Given the description of an element on the screen output the (x, y) to click on. 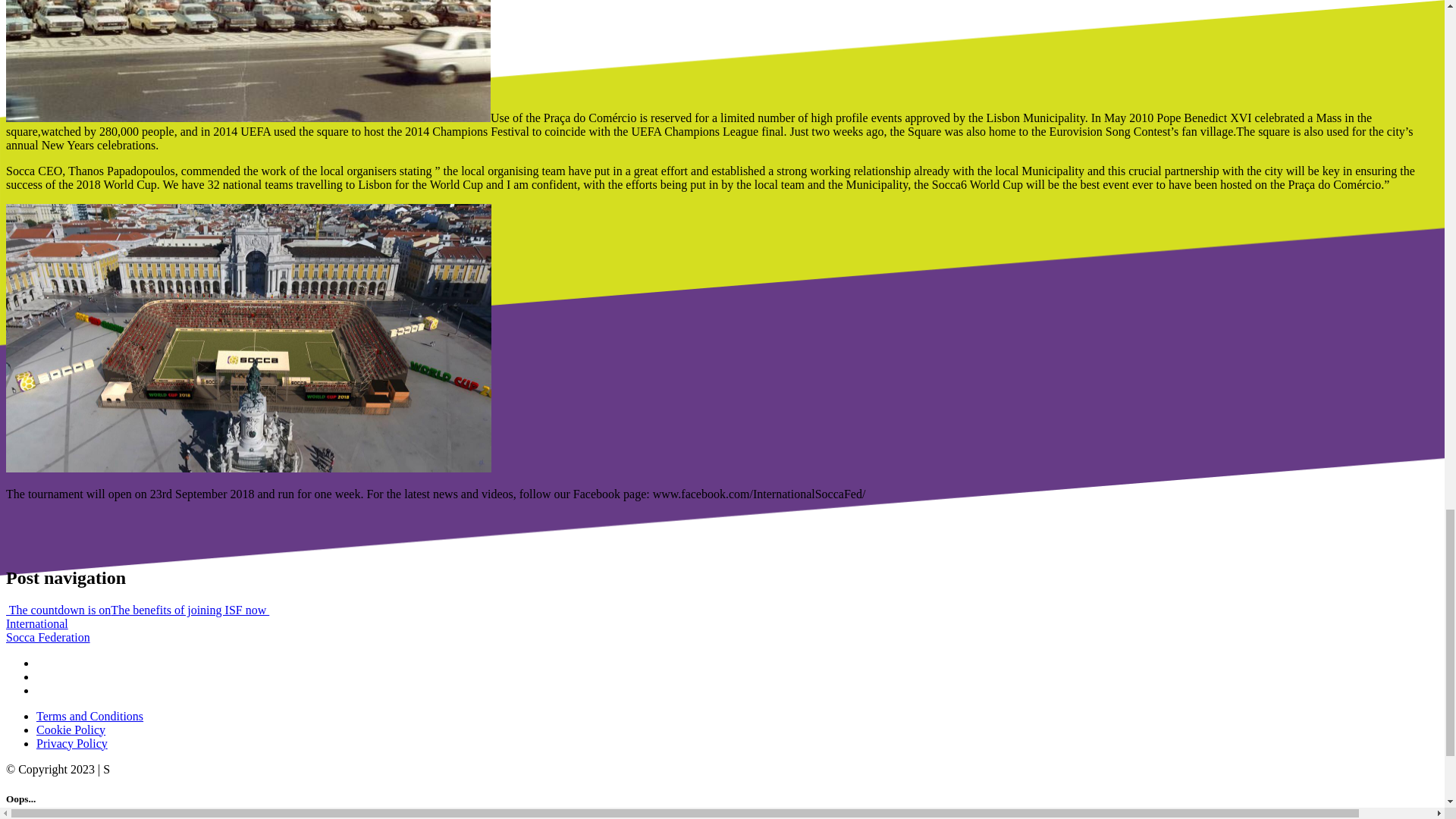
The benefits of joining ISF now  (189, 609)
 The countdown is on (57, 609)
Terms and Conditions (47, 630)
